Given the description of an element on the screen output the (x, y) to click on. 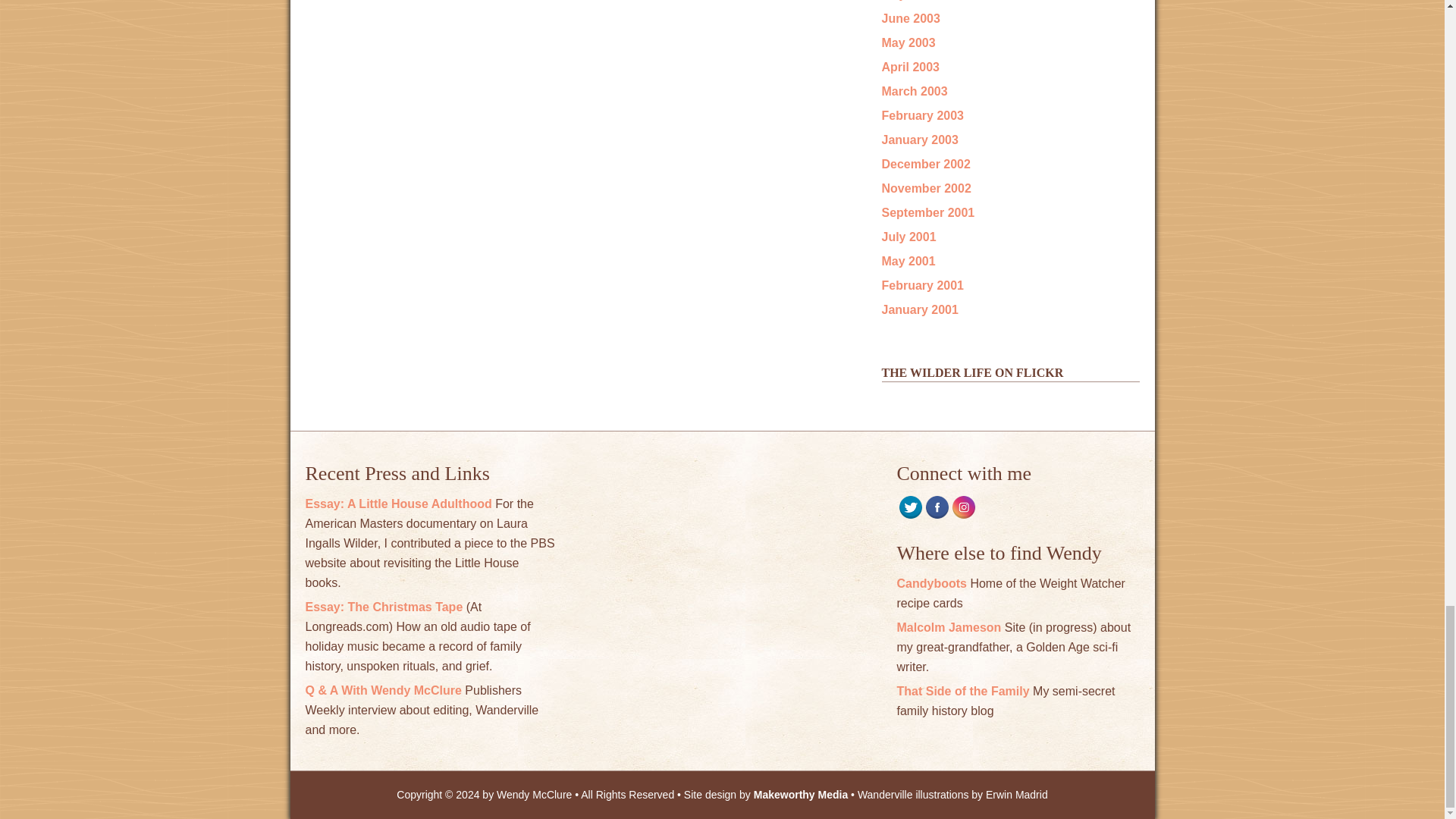
Visit Us On Instagram (962, 512)
Home of the Weight Watcher recipe cards (931, 583)
Visit Us On Facebook (936, 512)
My semi-secret family history blog (962, 690)
Visit Us On Twitter (909, 512)
